Given the description of an element on the screen output the (x, y) to click on. 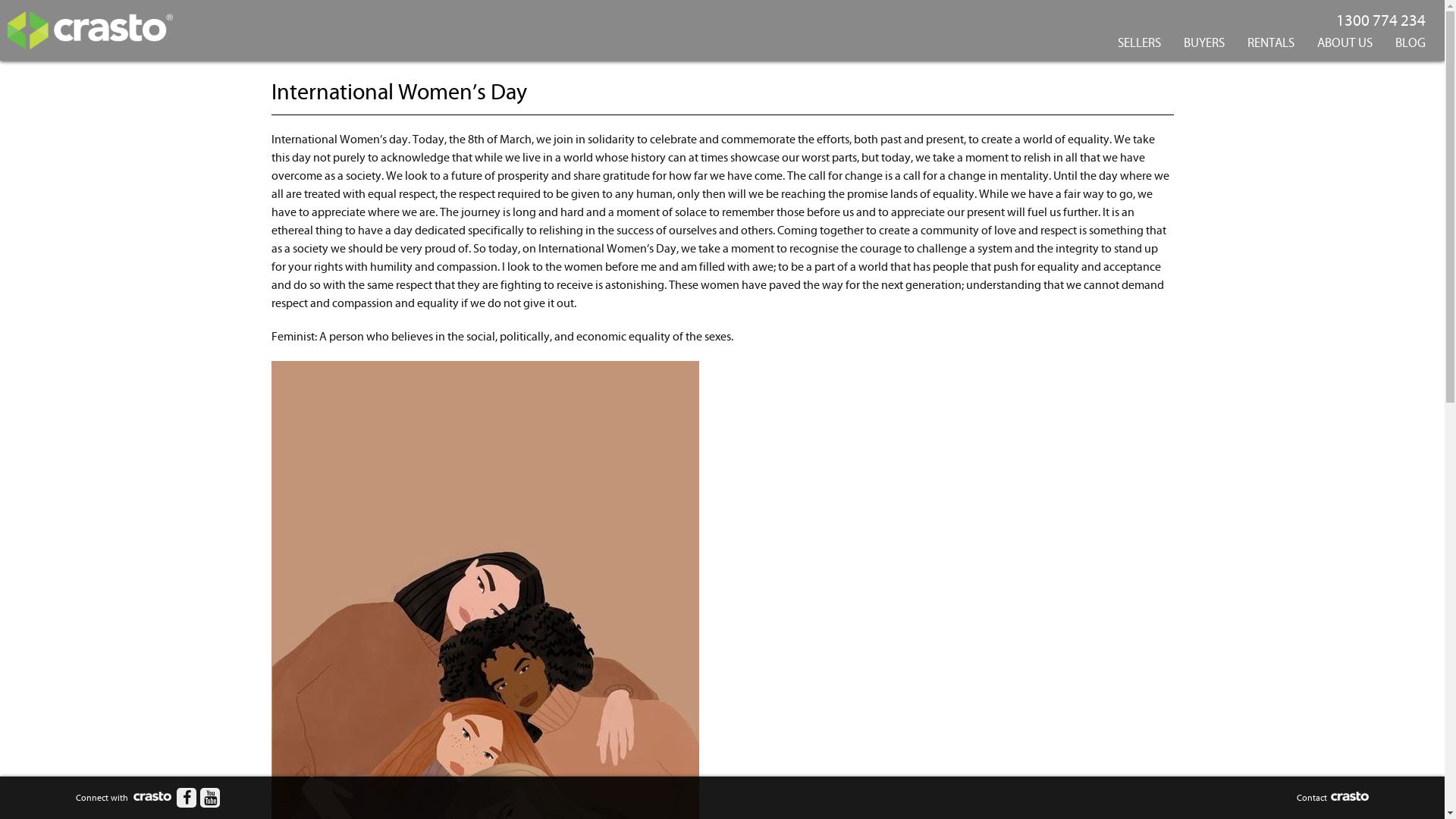
Contact Crasto Element type: text (1332, 797)
facebook Element type: hover (186, 797)
ABOUT US Element type: text (1344, 43)
youtube Element type: hover (209, 797)
BLOG Element type: text (1410, 43)
SELLERS Element type: text (1139, 43)
BUYERS Element type: text (1204, 43)
RENTALS Element type: text (1270, 43)
